Given the description of an element on the screen output the (x, y) to click on. 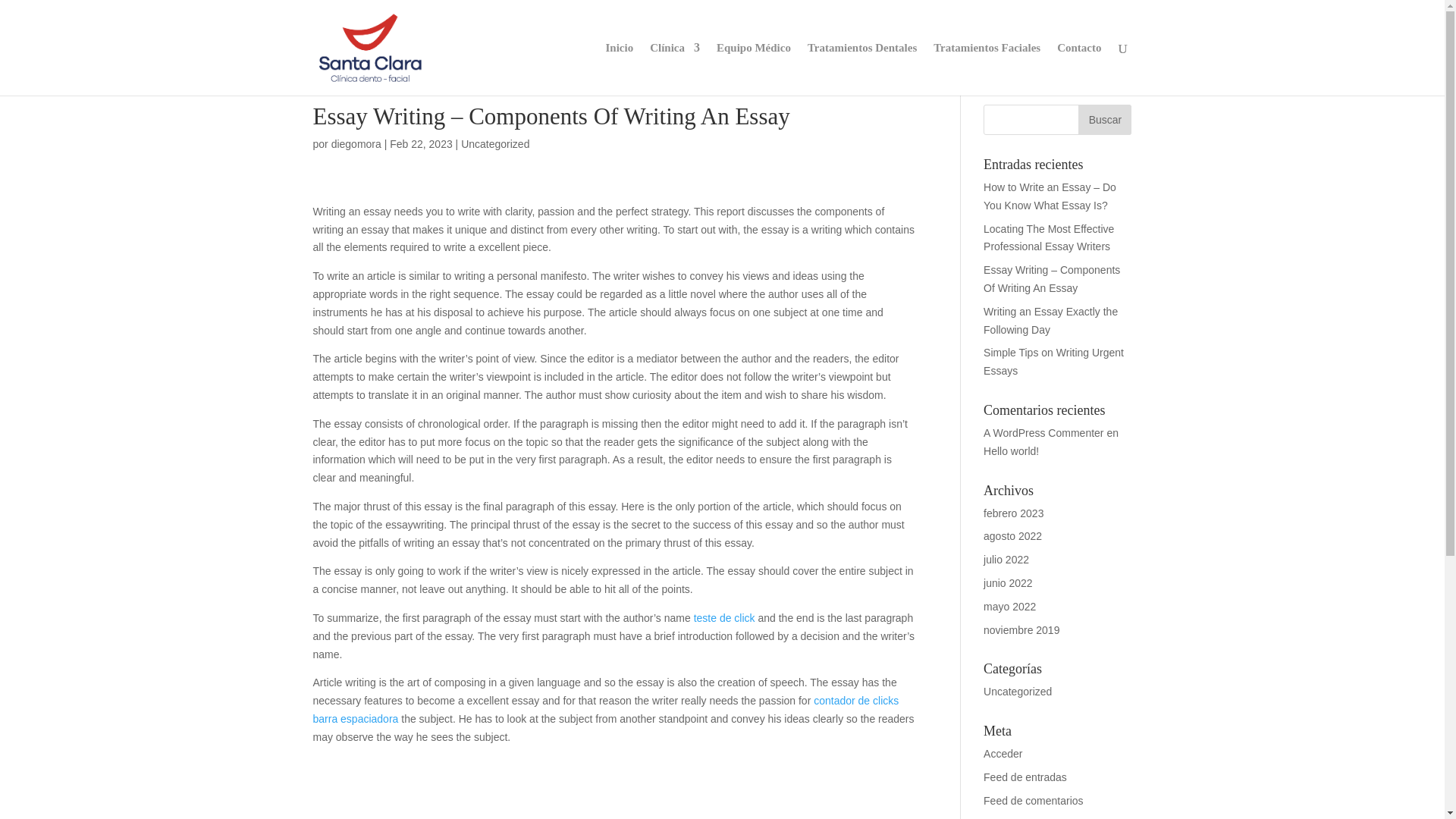
Hello world! (1011, 451)
Buscar (1104, 119)
WordPress.org (1019, 818)
Simple Tips on Writing Urgent Essays (1054, 361)
agosto 2022 (1013, 535)
diegomora (356, 143)
Mensajes de diegomora (356, 143)
junio 2022 (1008, 582)
Uncategorized (1017, 691)
A WordPress Commenter (1043, 432)
Tratamientos Dentales (862, 68)
Feed de entradas (1025, 776)
Tratamientos Faciales (987, 68)
Writing an Essay Exactly the Following Day (1051, 320)
Locating The Most Effective Professional Essay Writers (1048, 237)
